Given the description of an element on the screen output the (x, y) to click on. 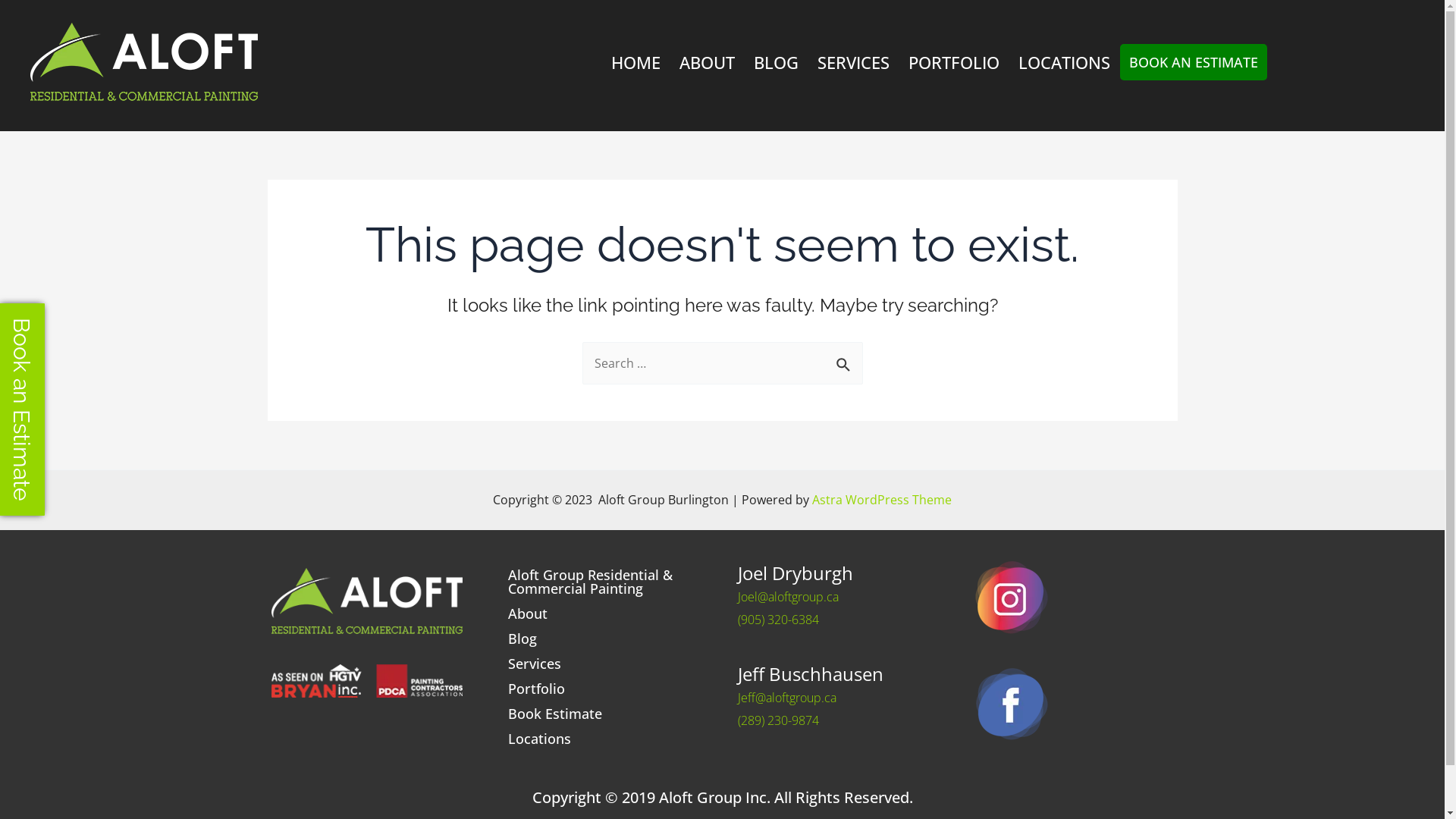
(905) 320-6384 Element type: text (777, 619)
Jeff@aloftgroup.ca Element type: text (786, 697)
footer-social2 Element type: hover (1012, 704)
LOCATIONS Element type: text (1064, 60)
HOME Element type: text (635, 60)
Aloft Group Residential & Commercial Painting Element type: text (603, 581)
Book Estimate Element type: text (603, 713)
Astra WordPress Theme Element type: text (881, 499)
aloft_hor_withtaglinegreen_rev_2col_300px Element type: hover (367, 600)
footer-social1 Element type: hover (1012, 598)
Services Element type: text (603, 663)
(289) 230-9874 Element type: text (777, 720)
BOOK AN ESTIMATE Element type: text (1193, 61)
Search Element type: text (845, 359)
aloft_hor_withtaglinegreen_rev_2col_300px Element type: hover (143, 61)
ABOUT Element type: text (706, 60)
Blog Element type: text (603, 638)
PORTFOLIO Element type: text (953, 60)
Portfolio Element type: text (603, 688)
Joel@aloftgroup.ca Element type: text (787, 596)
About Element type: text (603, 613)
footerlogo-2 Element type: hover (367, 680)
Locations Element type: text (603, 738)
BLOG Element type: text (775, 60)
SERVICES Element type: text (853, 60)
